Given the description of an element on the screen output the (x, y) to click on. 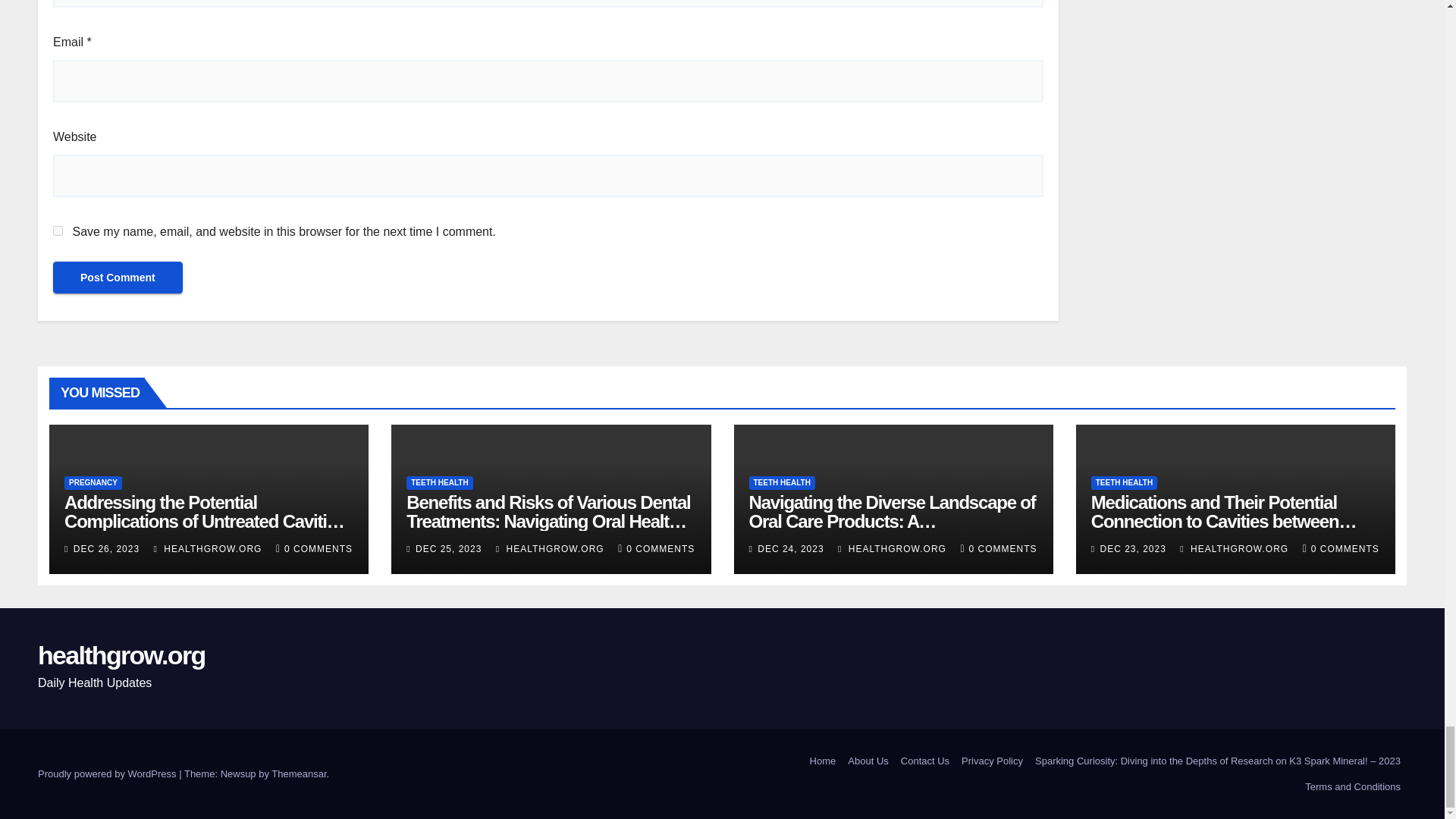
yes (57, 230)
Post Comment (117, 277)
Home (823, 760)
